Given the description of an element on the screen output the (x, y) to click on. 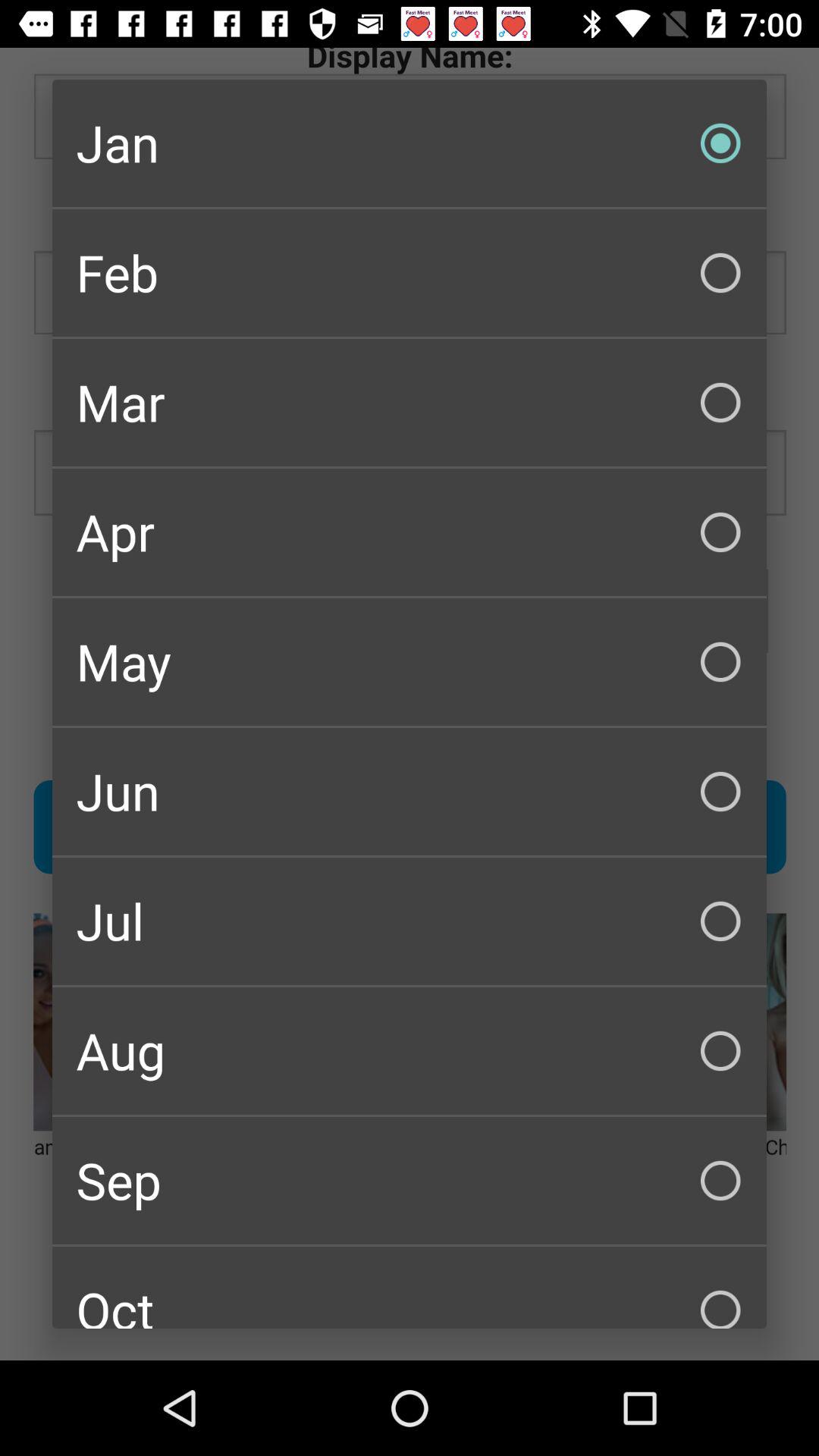
flip until jun checkbox (409, 791)
